Given the description of an element on the screen output the (x, y) to click on. 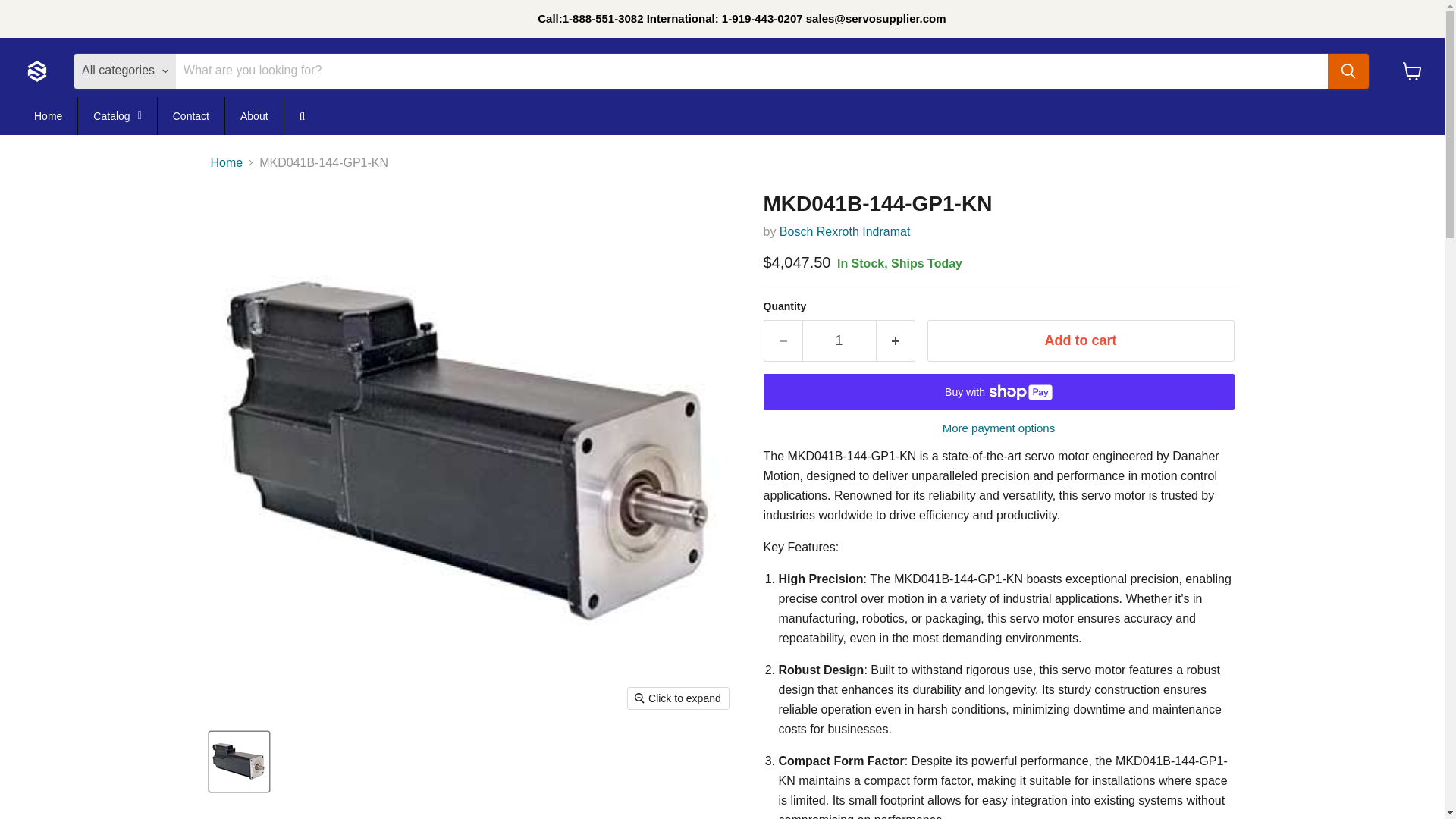
Home (47, 116)
Catalog (116, 116)
1 (839, 340)
Home (47, 116)
Catalog (116, 116)
View cart (1411, 70)
